Given the description of an element on the screen output the (x, y) to click on. 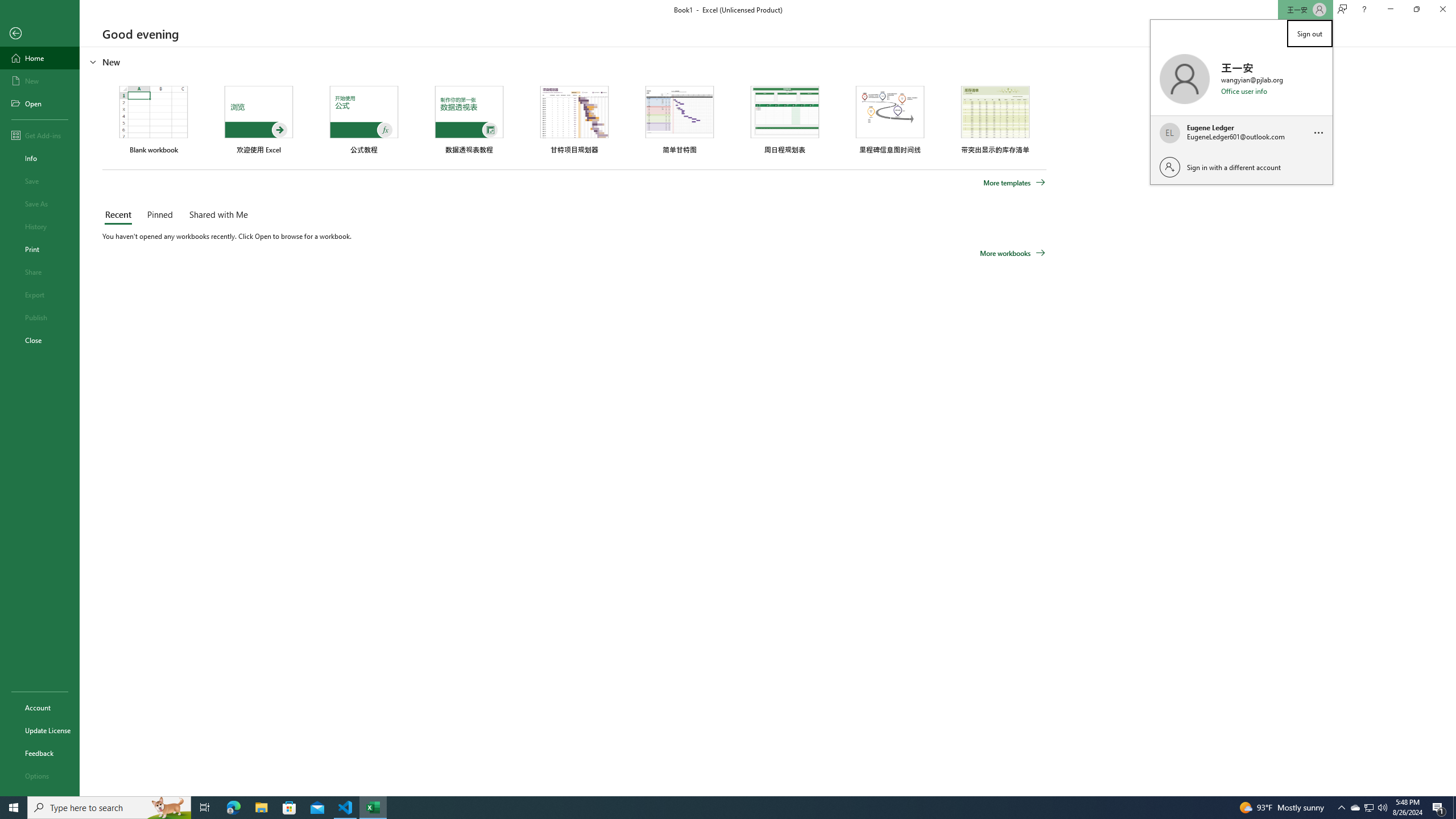
Back (40, 33)
Visual Studio Code - 1 running window (345, 807)
Get Add-ins (40, 134)
More workbooks (1012, 252)
Feedback (40, 753)
Save As (40, 203)
New (40, 80)
